Given the description of an element on the screen output the (x, y) to click on. 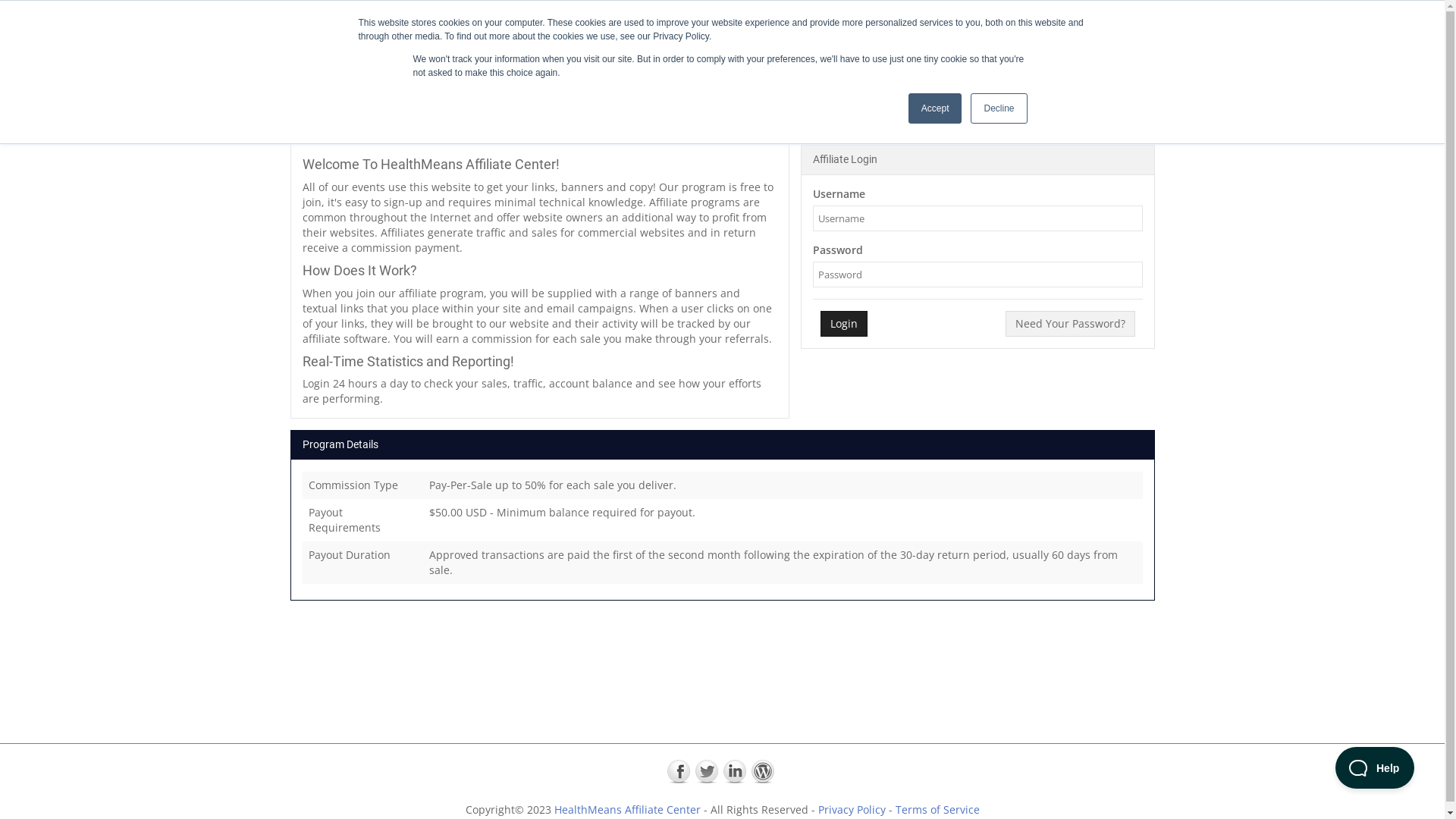
Accept Element type: text (935, 108)
Login Element type: text (843, 323)
Decline Element type: text (998, 108)
Event Calendar Element type: text (1100, 26)
HealthMeans Affiliate Center Element type: text (626, 809)
Home Element type: text (988, 26)
Terms of Service Element type: text (936, 809)
Need Your Password? Element type: text (1070, 323)
Privacy Policy Element type: text (850, 809)
FAQ Element type: text (1035, 26)
Help Scout Beacon - Open Element type: hover (1374, 767)
